Given the description of an element on the screen output the (x, y) to click on. 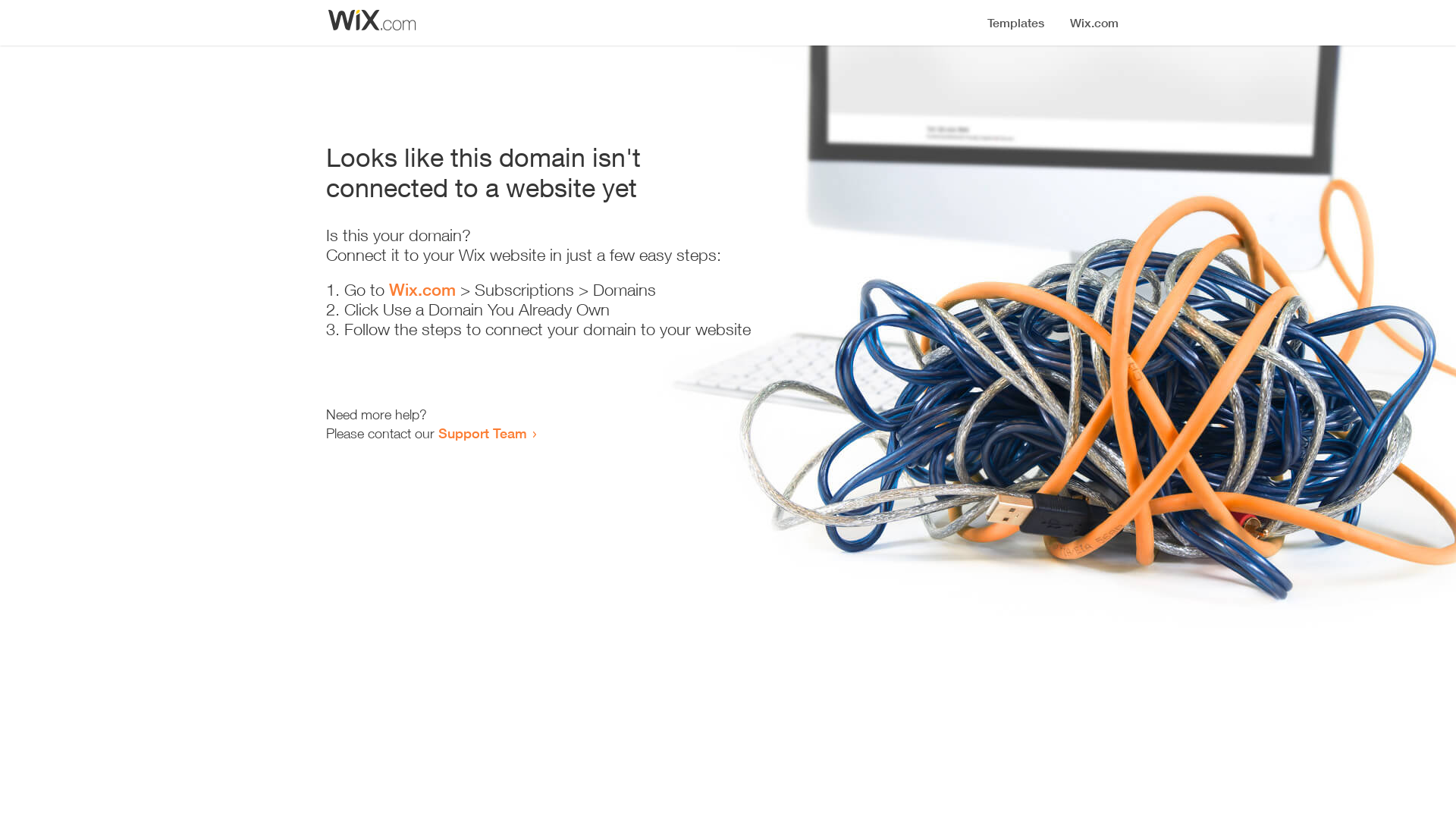
Wix.com Element type: text (422, 289)
Support Team Element type: text (482, 432)
